Given the description of an element on the screen output the (x, y) to click on. 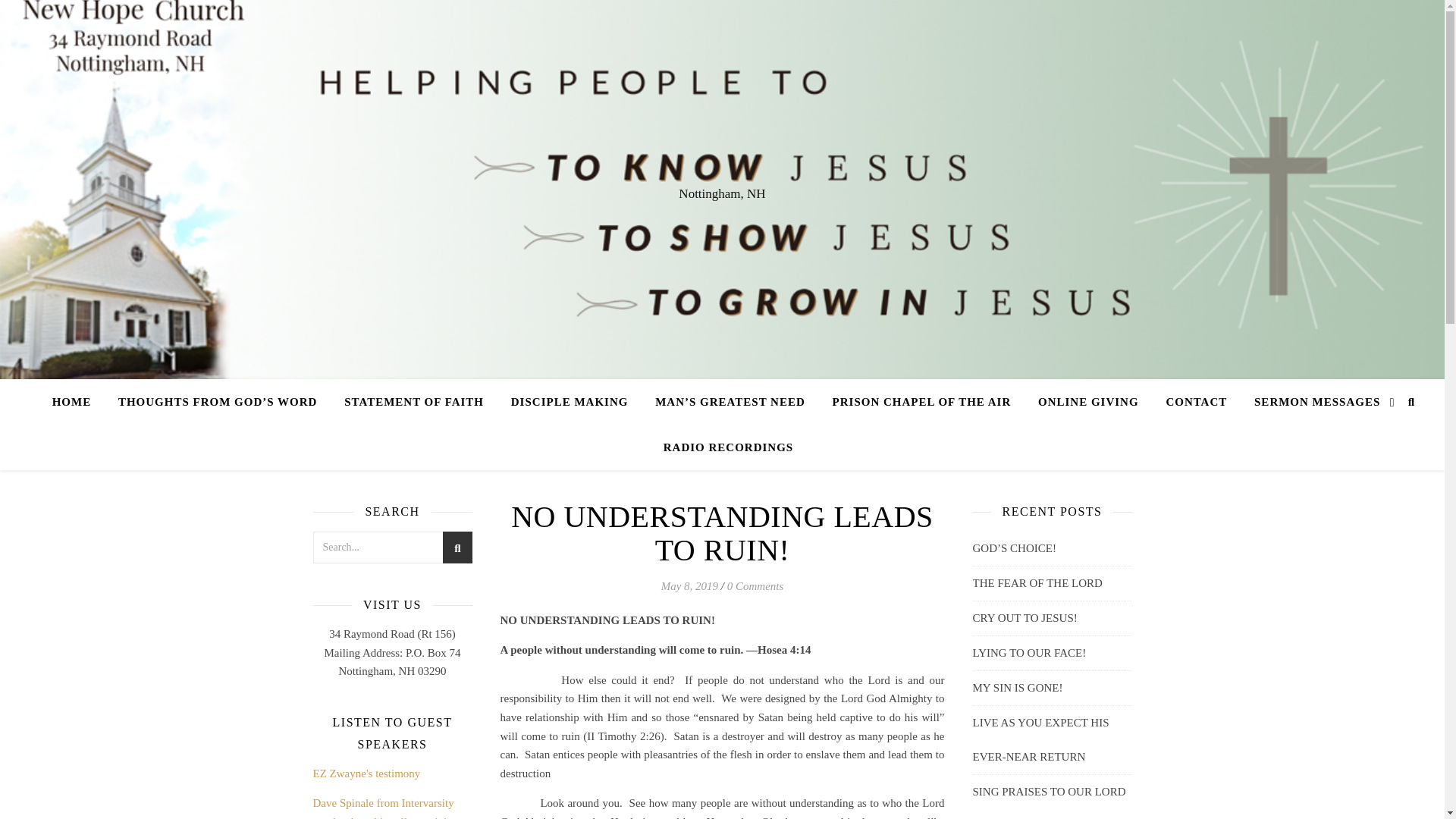
ONLINE GIVING (1088, 402)
THE FEAR OF THE LORD (1037, 582)
STATEMENT OF FAITH (413, 402)
EZ Zwayne's testimony (366, 773)
HOME (77, 402)
DISCIPLE MAKING (569, 402)
CRY OUT TO JESUS! (1024, 617)
RADIO RECORDINGS (721, 447)
CONTACT (1196, 402)
0 Comments (755, 585)
